Given the description of an element on the screen output the (x, y) to click on. 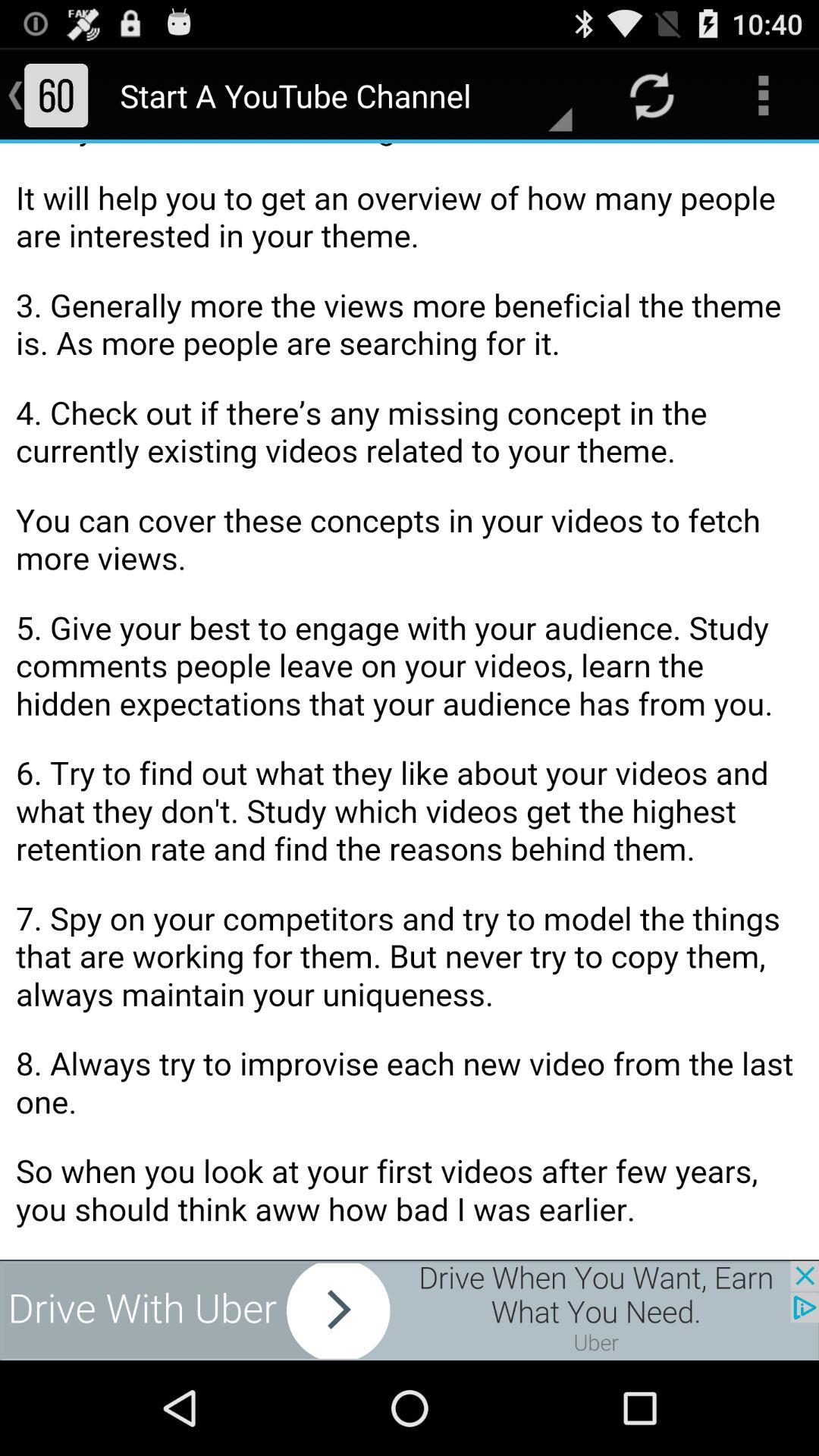
go to site (409, 1310)
